Given the description of an element on the screen output the (x, y) to click on. 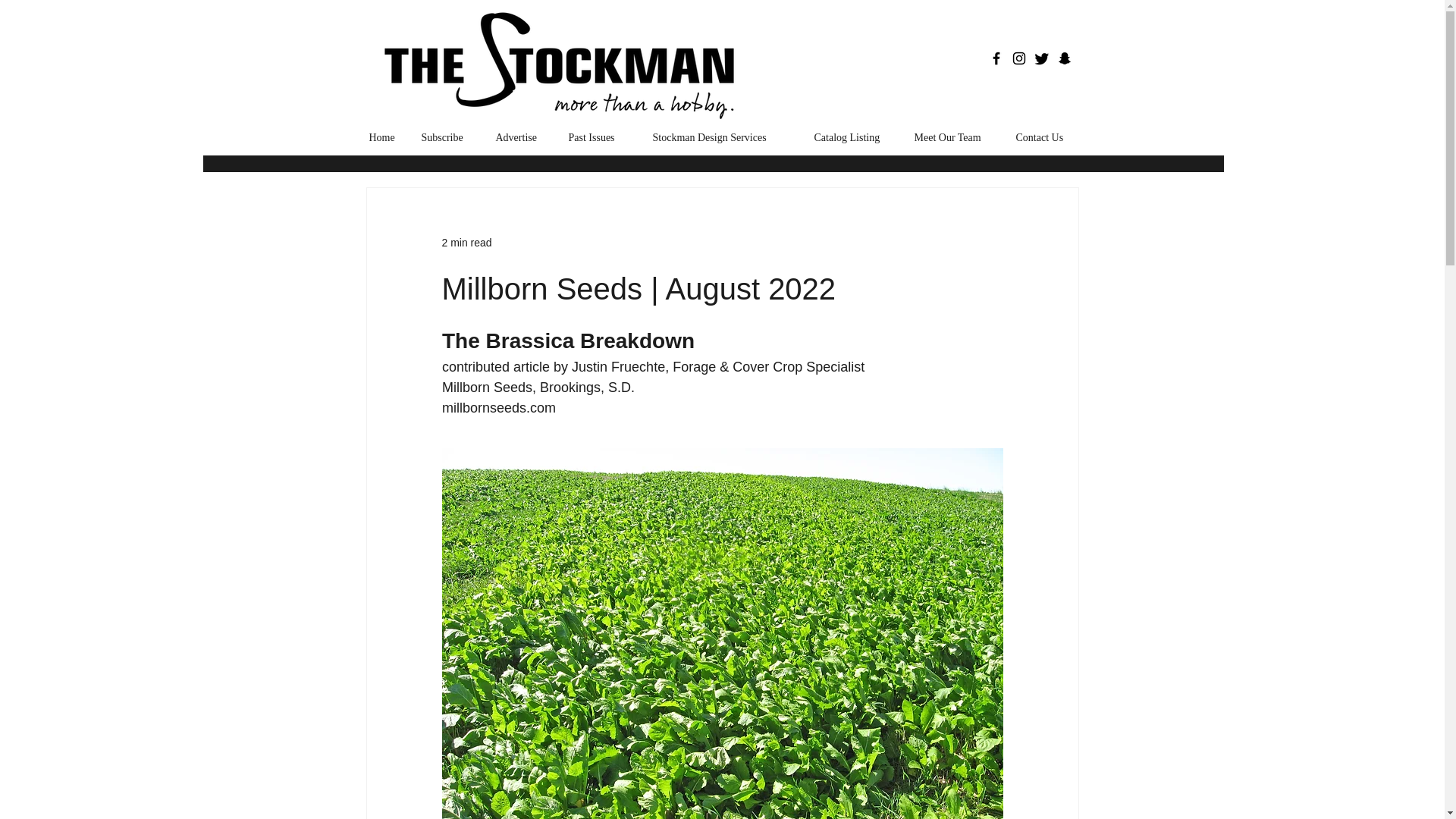
Home (384, 137)
Advertise (519, 137)
2 min read (466, 242)
Meet Our Team (953, 137)
Stockman Design Services (722, 137)
Contact Us (1045, 137)
Catalog Listing (852, 137)
Past Issues (598, 137)
Subscribe (446, 137)
